Given the description of an element on the screen output the (x, y) to click on. 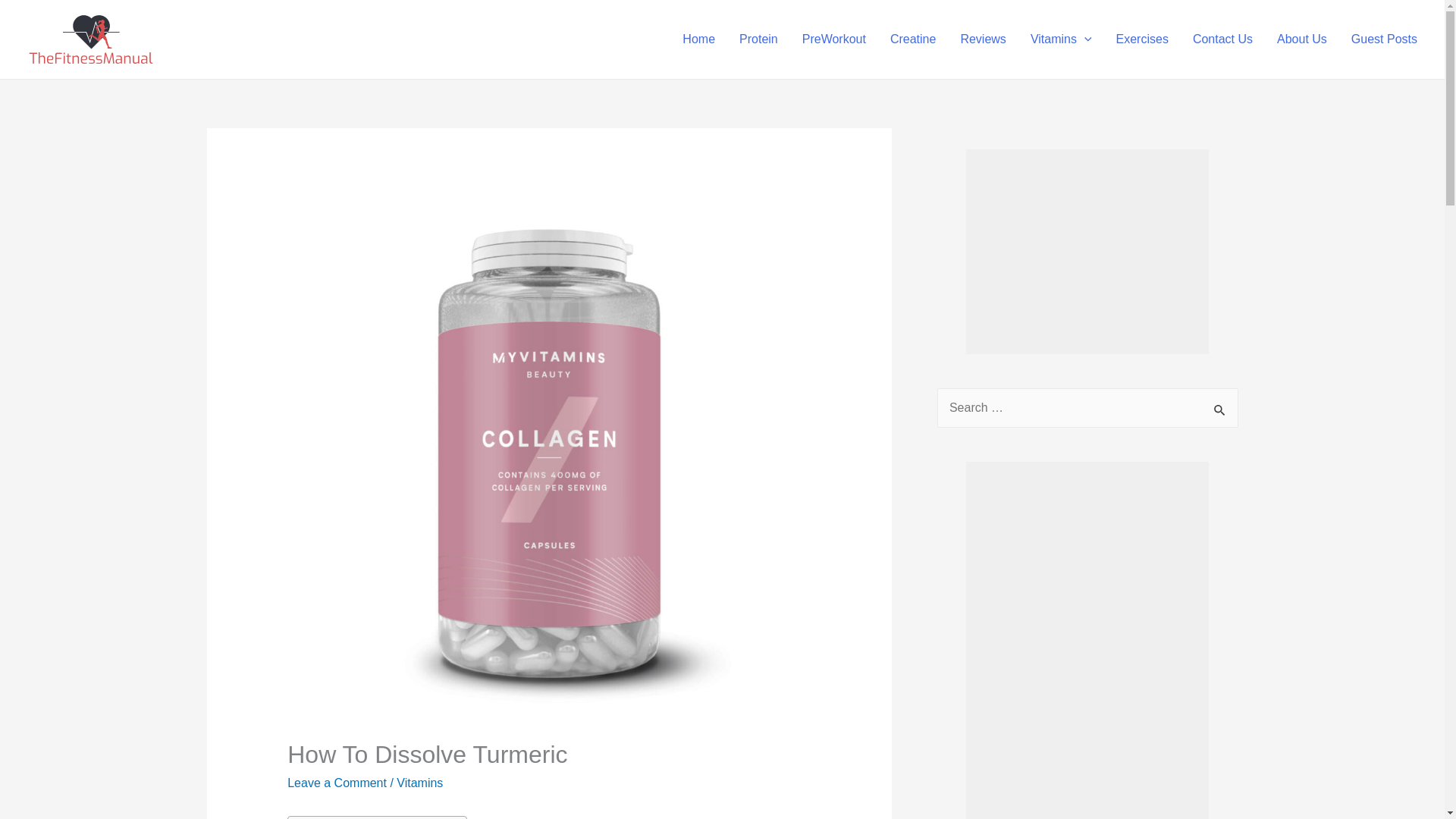
PreWorkout (833, 39)
Protein (758, 39)
Vitamins (1060, 39)
About Us (1302, 39)
Home (697, 39)
Exercises (1141, 39)
Vitamins (419, 782)
Reviews (982, 39)
Creatine (912, 39)
Contact Us (1222, 39)
Leave a Comment (336, 782)
Guest Posts (1384, 39)
